Given the description of an element on the screen output the (x, y) to click on. 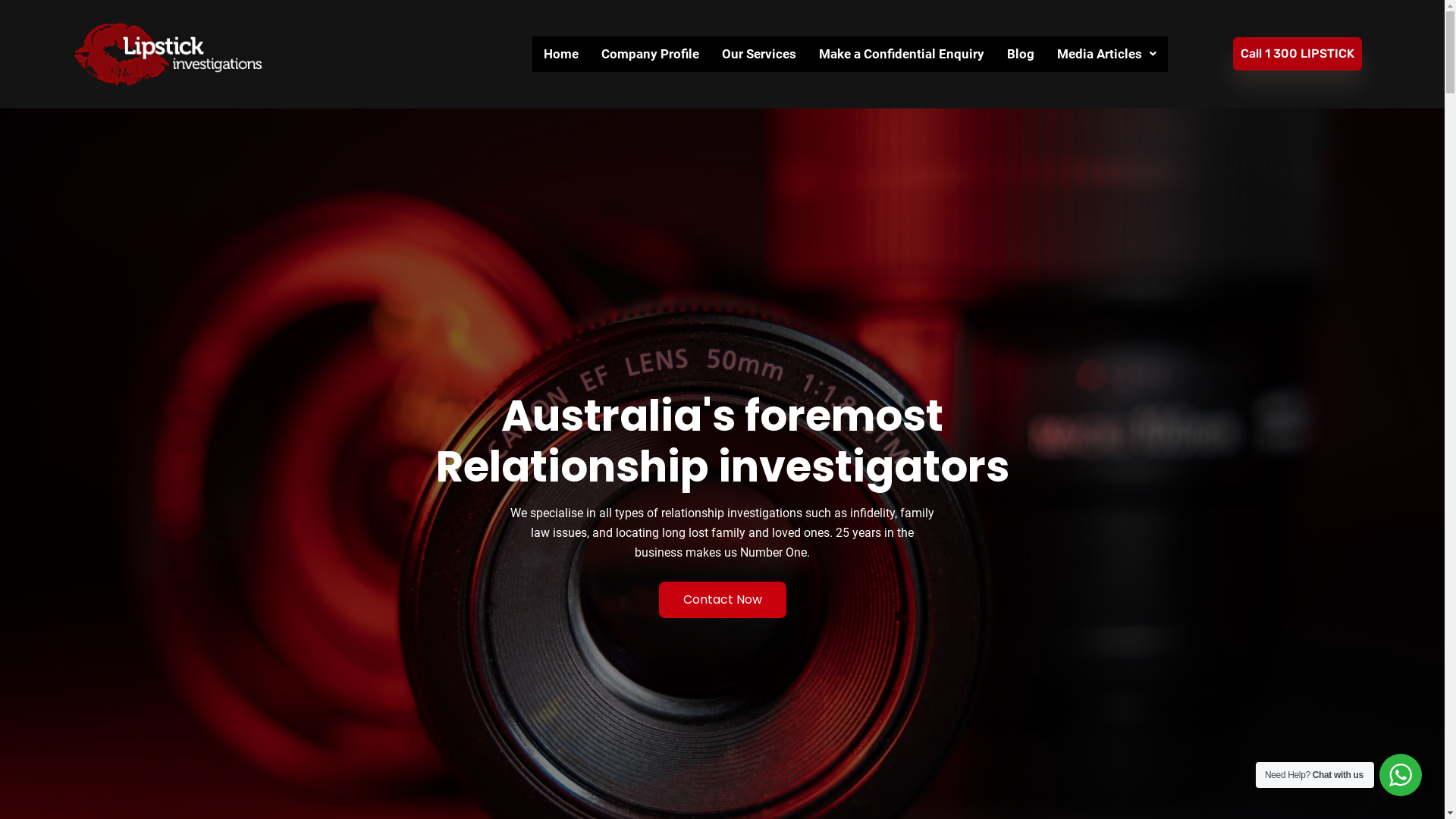
Make a Confidential Enquiry Element type: text (901, 54)
Our Services Element type: text (758, 54)
Call 1 300 LIPSTICK Element type: text (1297, 53)
Contact Now Element type: text (721, 599)
Home Element type: text (560, 54)
Blog Element type: text (1020, 54)
Media Articles Element type: text (1106, 54)
Company Profile Element type: text (649, 54)
